Given the description of an element on the screen output the (x, y) to click on. 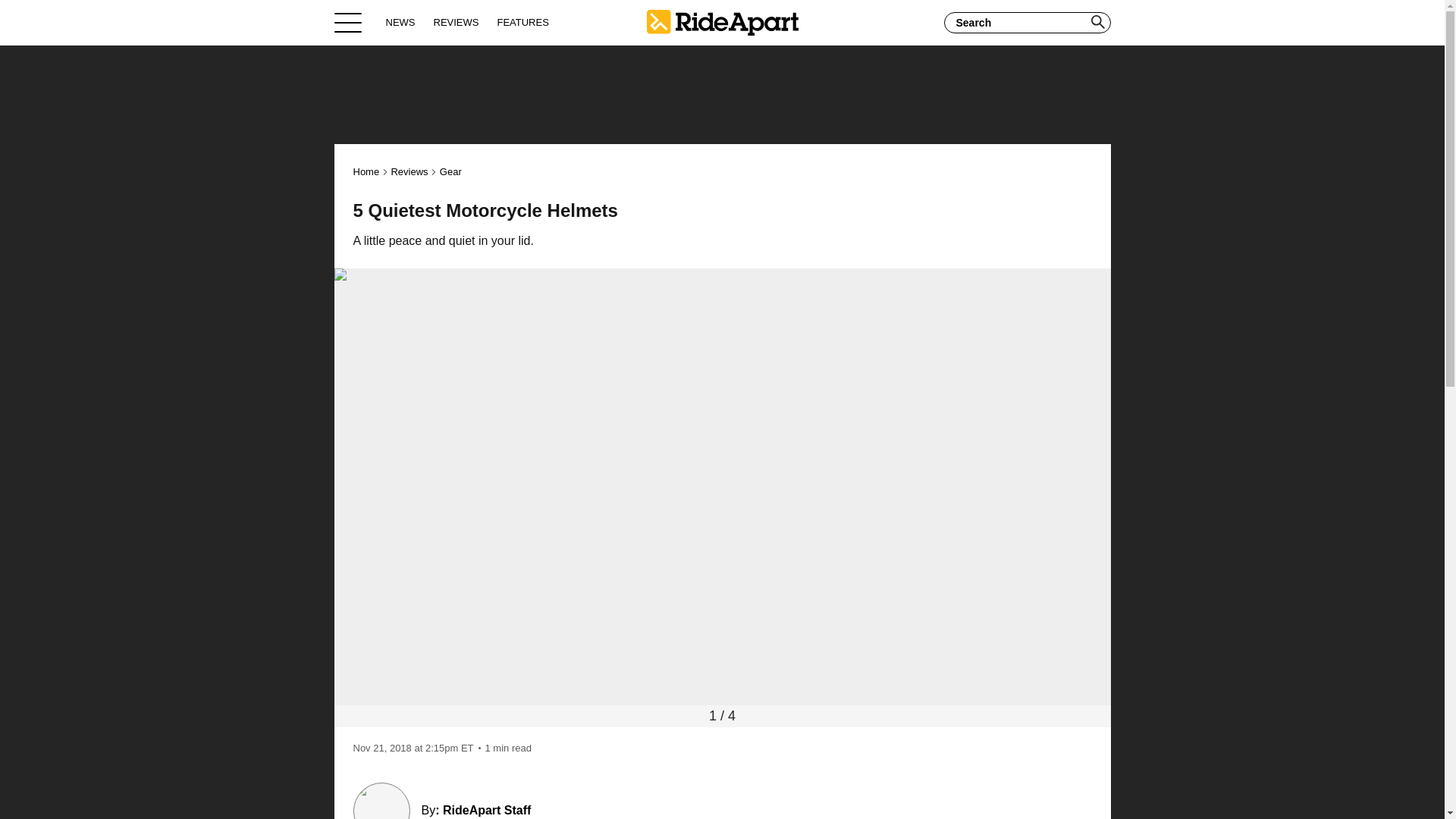
Home (721, 22)
RideApart Staff (486, 809)
Reviews (409, 171)
Gear (450, 171)
FEATURES (522, 22)
NEWS (399, 22)
REVIEWS (456, 22)
Home (366, 171)
